Given the description of an element on the screen output the (x, y) to click on. 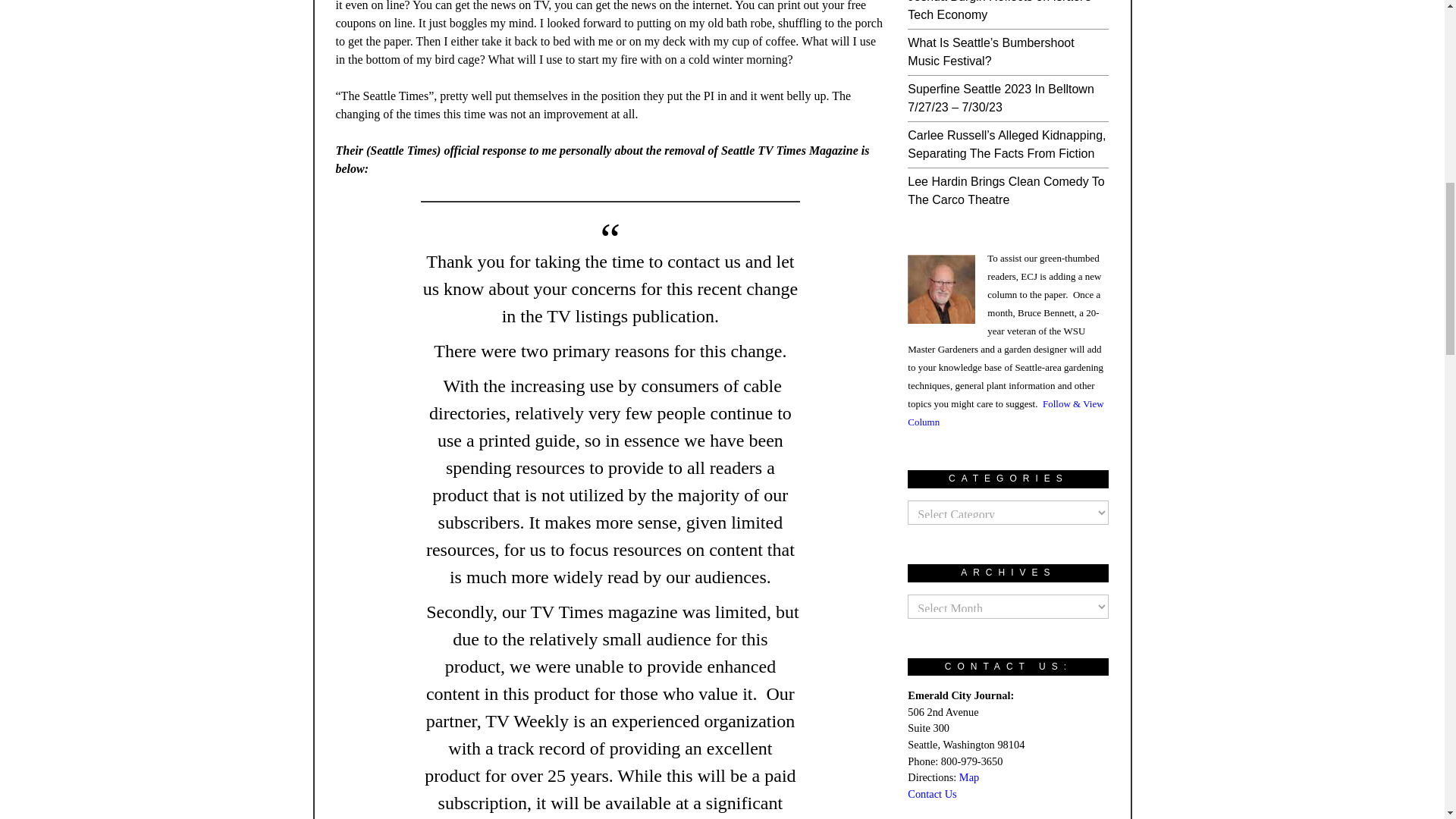
Map (968, 776)
Lee Hardin Brings Clean Comedy To The Carco Theatre (1005, 190)
